Given the description of an element on the screen output the (x, y) to click on. 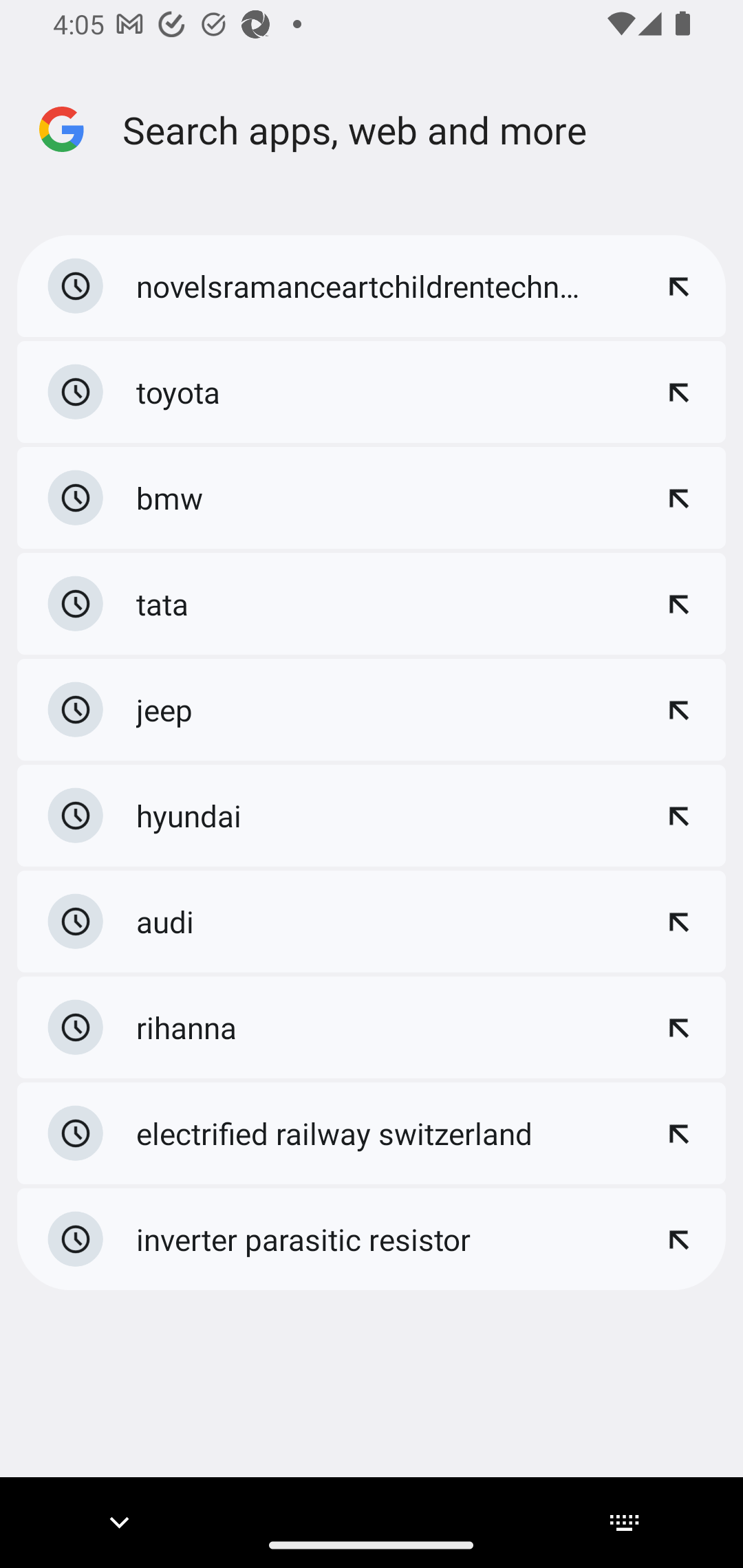
Search apps, web and more (428, 129)
Show predictions for toyota (678, 391)
bmw bmw Search bmw Show predictions for bmw (371, 497)
Show predictions for bmw (678, 497)
tata tata Search tata Show predictions for tata (371, 603)
Show predictions for tata (678, 603)
jeep jeep Search jeep Show predictions for jeep (371, 709)
Show predictions for jeep (678, 709)
Show predictions for hyundai (678, 814)
audi audi Search audi Show predictions for audi (371, 920)
Show predictions for audi (678, 921)
Show predictions for rihanna (678, 1026)
Show predictions for inverter parasitic resistor (678, 1238)
